Given the description of an element on the screen output the (x, y) to click on. 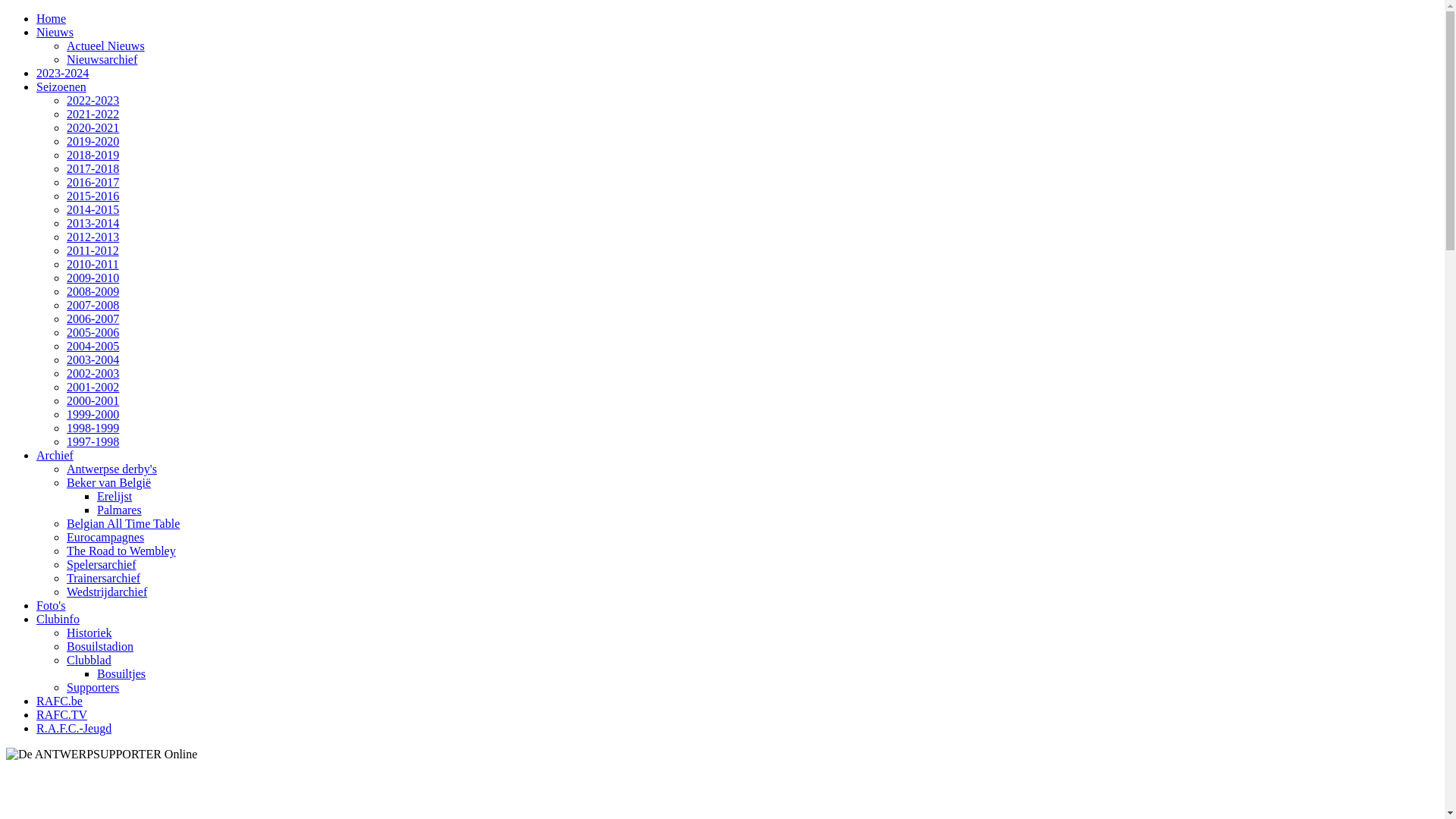
Eurocampagnes Element type: text (105, 536)
Erelijst Element type: text (114, 495)
2008-2009 Element type: text (92, 291)
Clubinfo Element type: text (57, 618)
2004-2005 Element type: text (92, 345)
Nieuws Element type: text (54, 31)
2022-2023 Element type: text (92, 100)
Antwerpse derby's Element type: text (111, 468)
2016-2017 Element type: text (92, 181)
Wedstrijdarchief Element type: text (106, 591)
The Road to Wembley Element type: text (120, 550)
2019-2020 Element type: text (92, 140)
R.A.F.C.-Jeugd Element type: text (73, 727)
2005-2006 Element type: text (92, 332)
2015-2016 Element type: text (92, 195)
2014-2015 Element type: text (92, 209)
1997-1998 Element type: text (92, 441)
RAFC.TV Element type: text (61, 714)
Seizoenen Element type: text (61, 86)
Historiek Element type: text (89, 632)
2018-2019 Element type: text (92, 154)
2009-2010 Element type: text (92, 277)
2010-2011 Element type: text (92, 263)
2003-2004 Element type: text (92, 359)
1998-1999 Element type: text (92, 427)
Belgian All Time Table Element type: text (122, 523)
2007-2008 Element type: text (92, 304)
Clubblad Element type: text (88, 659)
Bosuilstadion Element type: text (99, 646)
Trainersarchief Element type: text (103, 577)
2012-2013 Element type: text (92, 236)
2023-2024 Element type: text (62, 72)
Spelersarchief Element type: text (101, 564)
2020-2021 Element type: text (92, 127)
Foto's Element type: text (50, 605)
Bosuiltjes Element type: text (121, 673)
RAFC.be Element type: text (59, 700)
1999-2000 Element type: text (92, 413)
Actueel Nieuws Element type: text (105, 45)
2001-2002 Element type: text (92, 386)
Archief Element type: text (54, 454)
2006-2007 Element type: text (92, 318)
Palmares Element type: text (119, 509)
2000-2001 Element type: text (92, 400)
Nieuwsarchief Element type: text (101, 59)
2011-2012 Element type: text (92, 250)
2017-2018 Element type: text (92, 168)
Home Element type: text (50, 18)
2013-2014 Element type: text (92, 222)
2002-2003 Element type: text (92, 373)
Supporters Element type: text (92, 686)
2021-2022 Element type: text (92, 113)
